Given the description of an element on the screen output the (x, y) to click on. 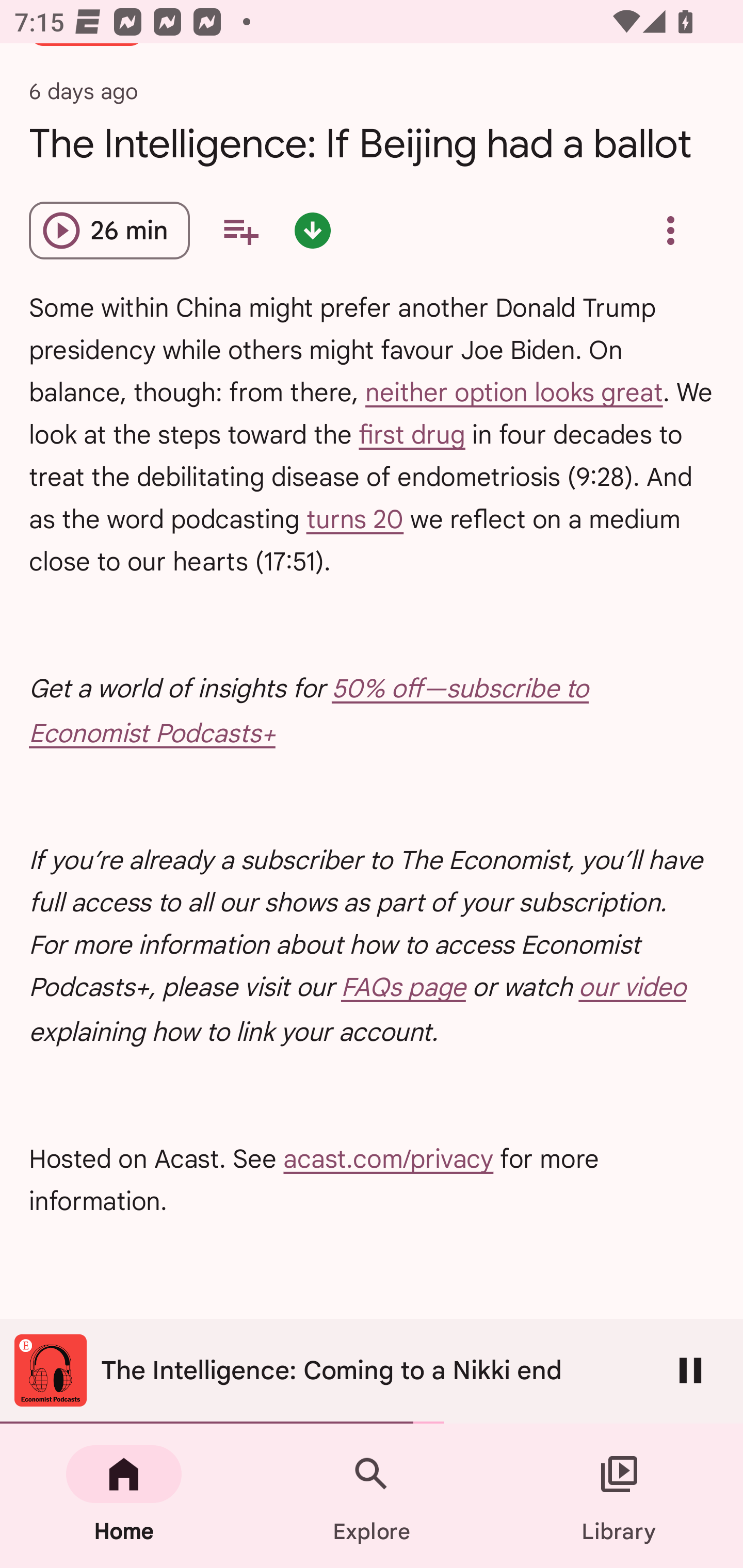
Add to your queue (240, 230)
Episode downloaded - double tap for options (312, 230)
Overflow menu (670, 230)
Pause (690, 1370)
Explore (371, 1495)
Library (619, 1495)
